Given the description of an element on the screen output the (x, y) to click on. 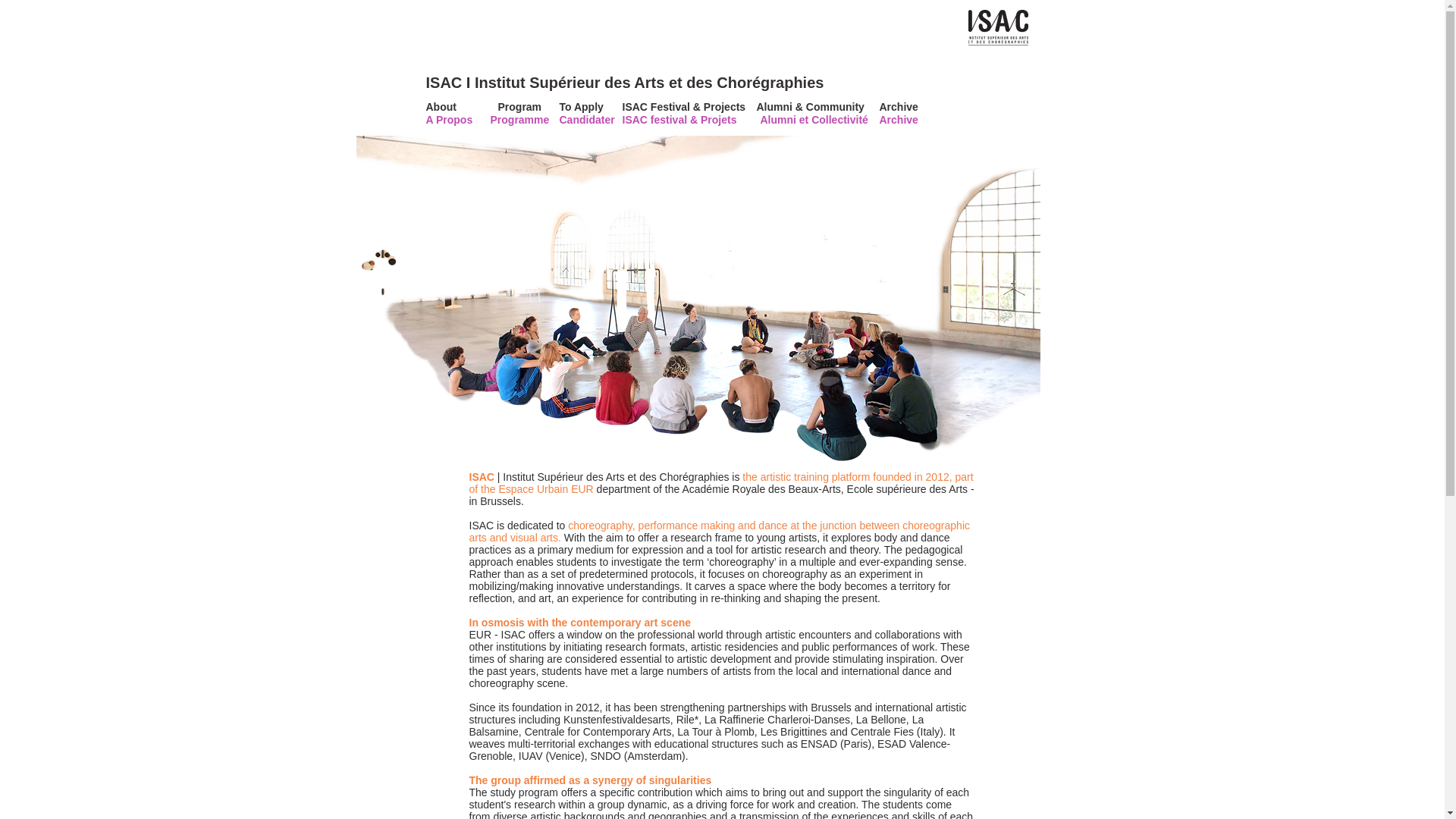
To Apply (587, 107)
Archive (919, 120)
Program (519, 107)
Candidater (587, 120)
About (453, 107)
Programme (518, 120)
Archive (919, 107)
A Propos (453, 120)
